Given the description of an element on the screen output the (x, y) to click on. 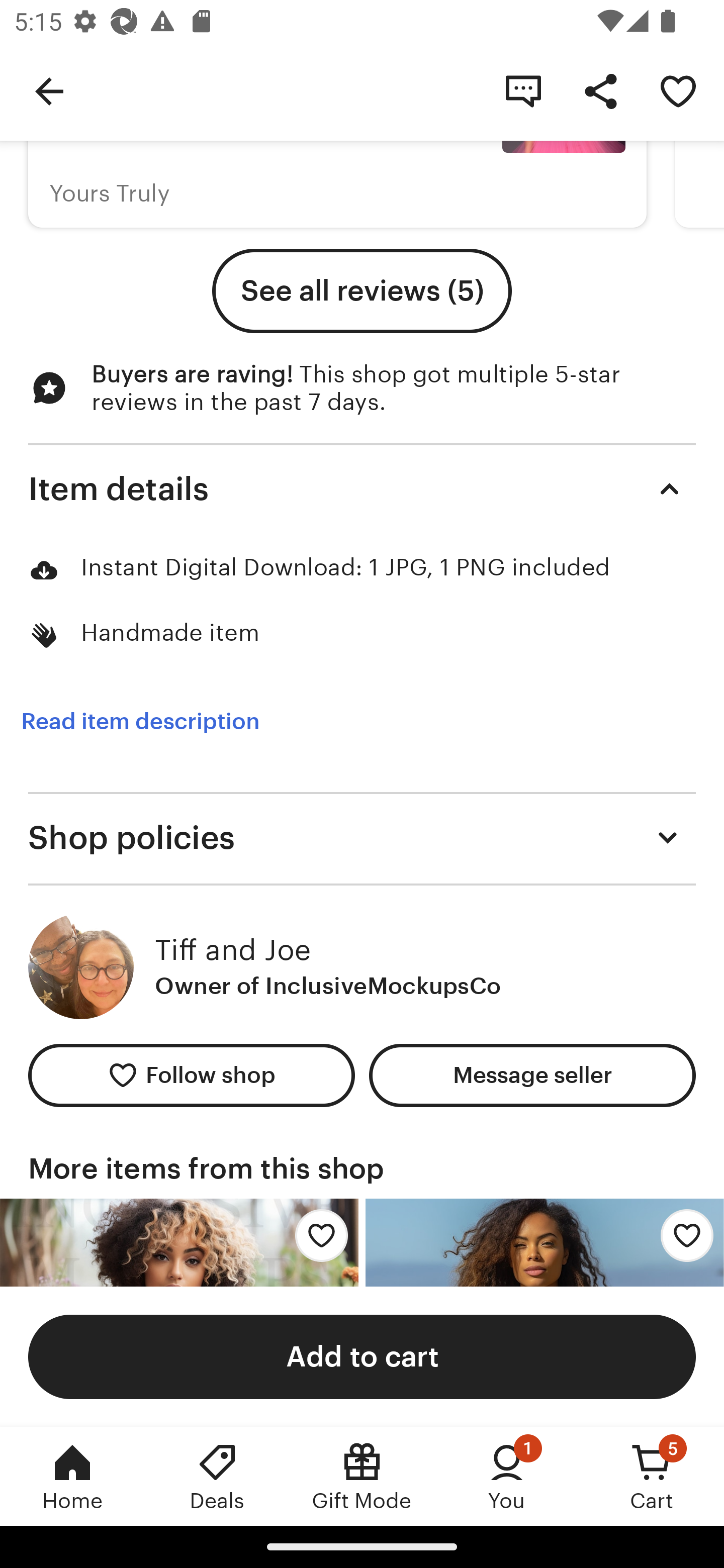
Navigate up (49, 90)
Contact shop (523, 90)
Share (600, 90)
See all reviews (5) (361, 290)
Item details (362, 488)
Read item description (140, 720)
Shop policies (362, 836)
Follow shop Follow InclusiveMockupsCo (191, 1075)
Message seller (532, 1075)
Add to cart (361, 1355)
Deals (216, 1475)
Gift Mode (361, 1475)
You, 1 new notification You (506, 1475)
Cart, 5 new notifications Cart (651, 1475)
